Given the description of an element on the screen output the (x, y) to click on. 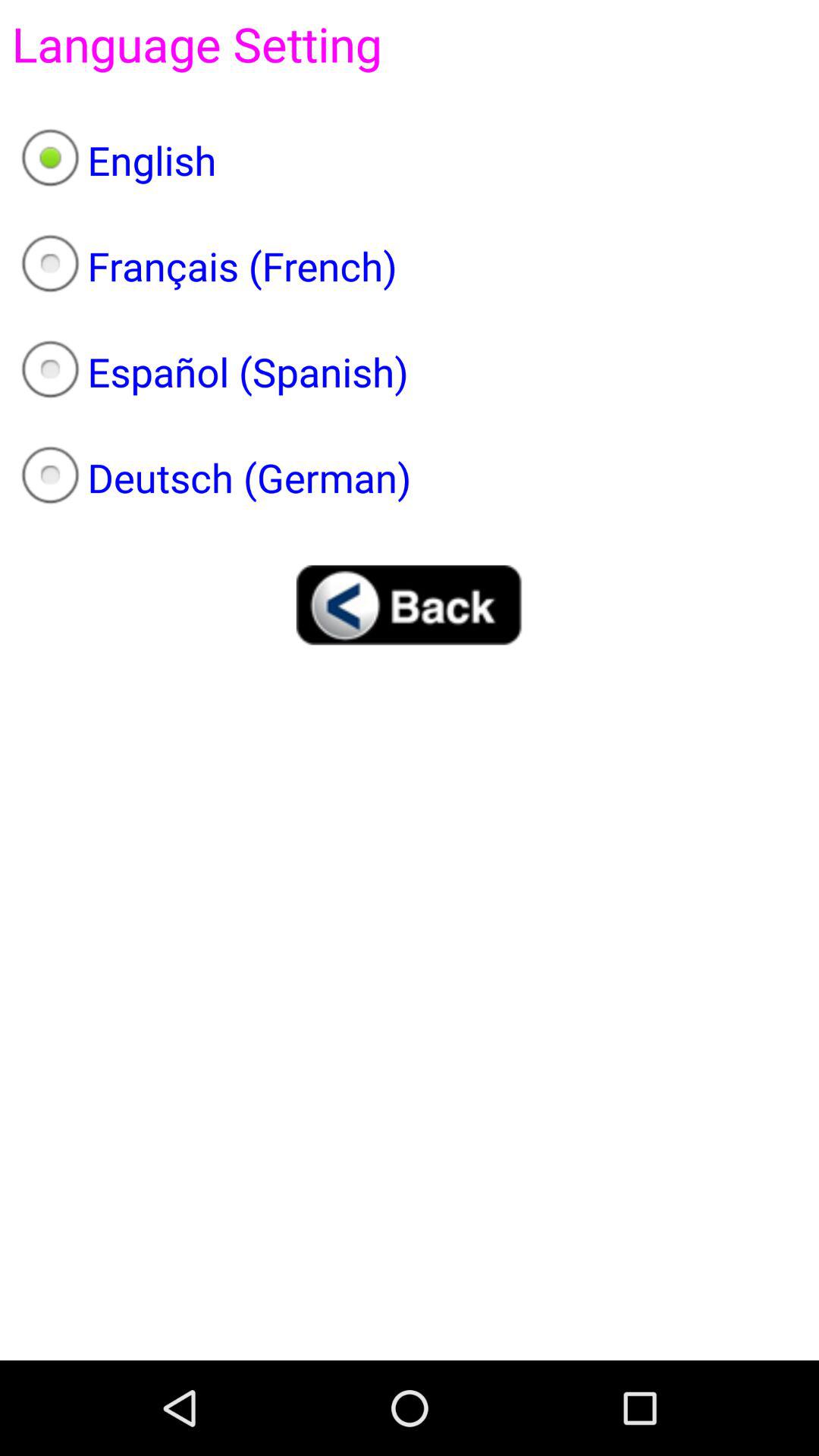
open icon at the center (409, 604)
